Given the description of an element on the screen output the (x, y) to click on. 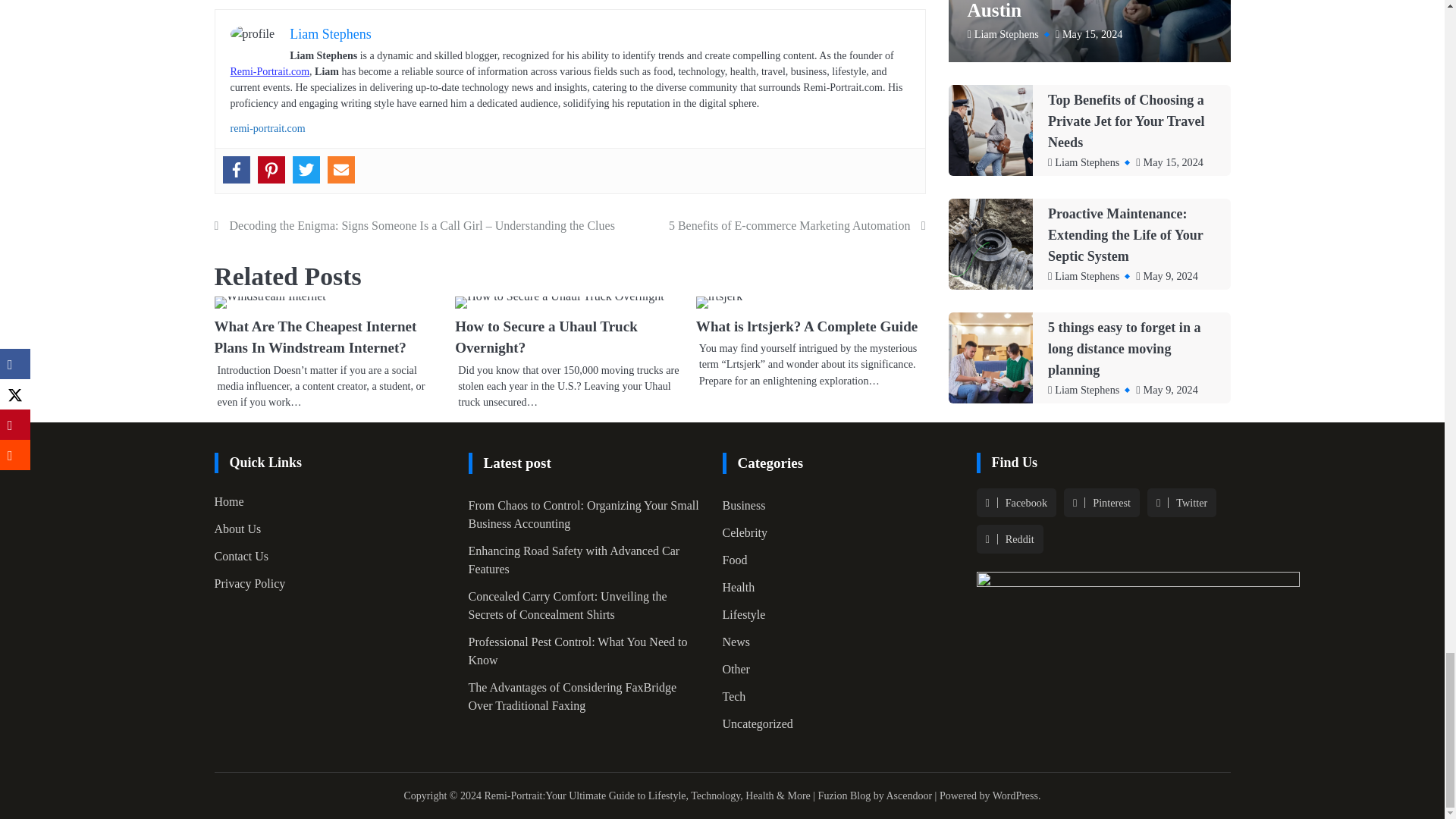
Twitter (306, 169)
User email (341, 169)
Pinterest (271, 169)
Facebook (236, 169)
